Given the description of an element on the screen output the (x, y) to click on. 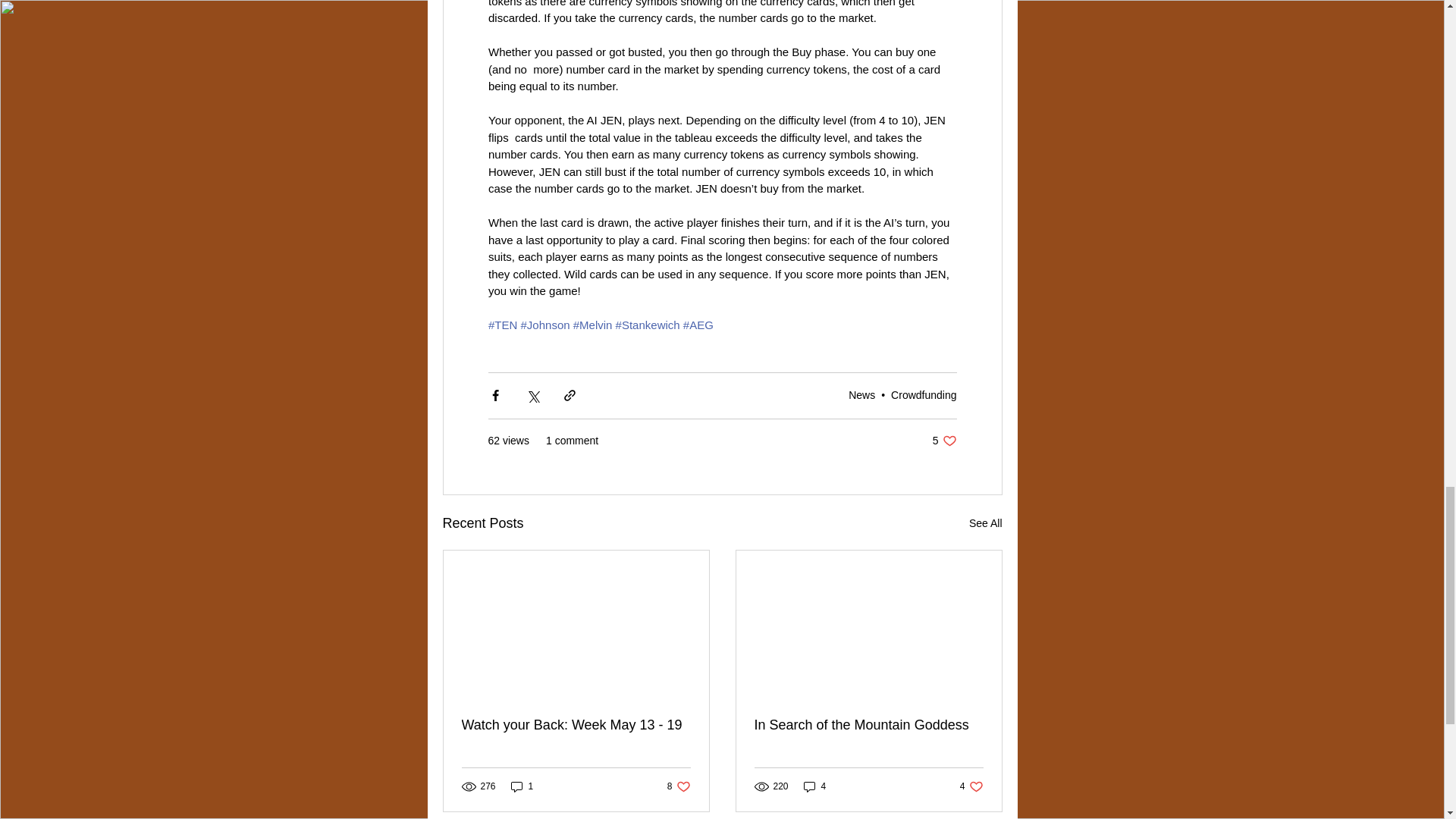
News (861, 395)
Crowdfunding (944, 440)
